Given the description of an element on the screen output the (x, y) to click on. 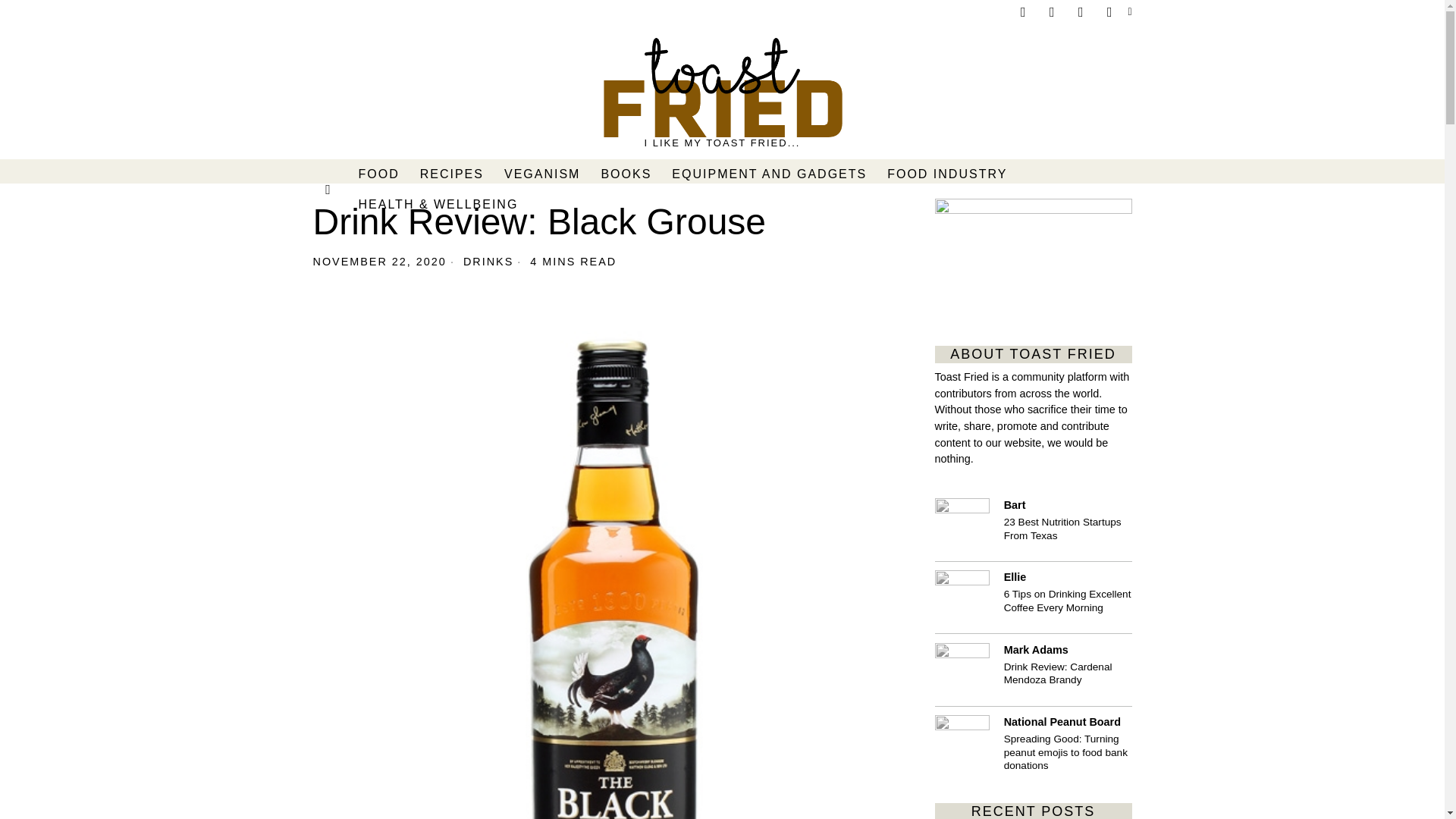
Ellie (961, 597)
22 Nov, 2020 05:19:47 (379, 261)
Bart (961, 524)
FOOD (379, 173)
FOOD INDUSTRY (947, 173)
DRINKS (488, 261)
VEGANISM (543, 173)
EQUIPMENT AND GADGETS (769, 173)
BOOKS (626, 173)
